Given the description of an element on the screen output the (x, y) to click on. 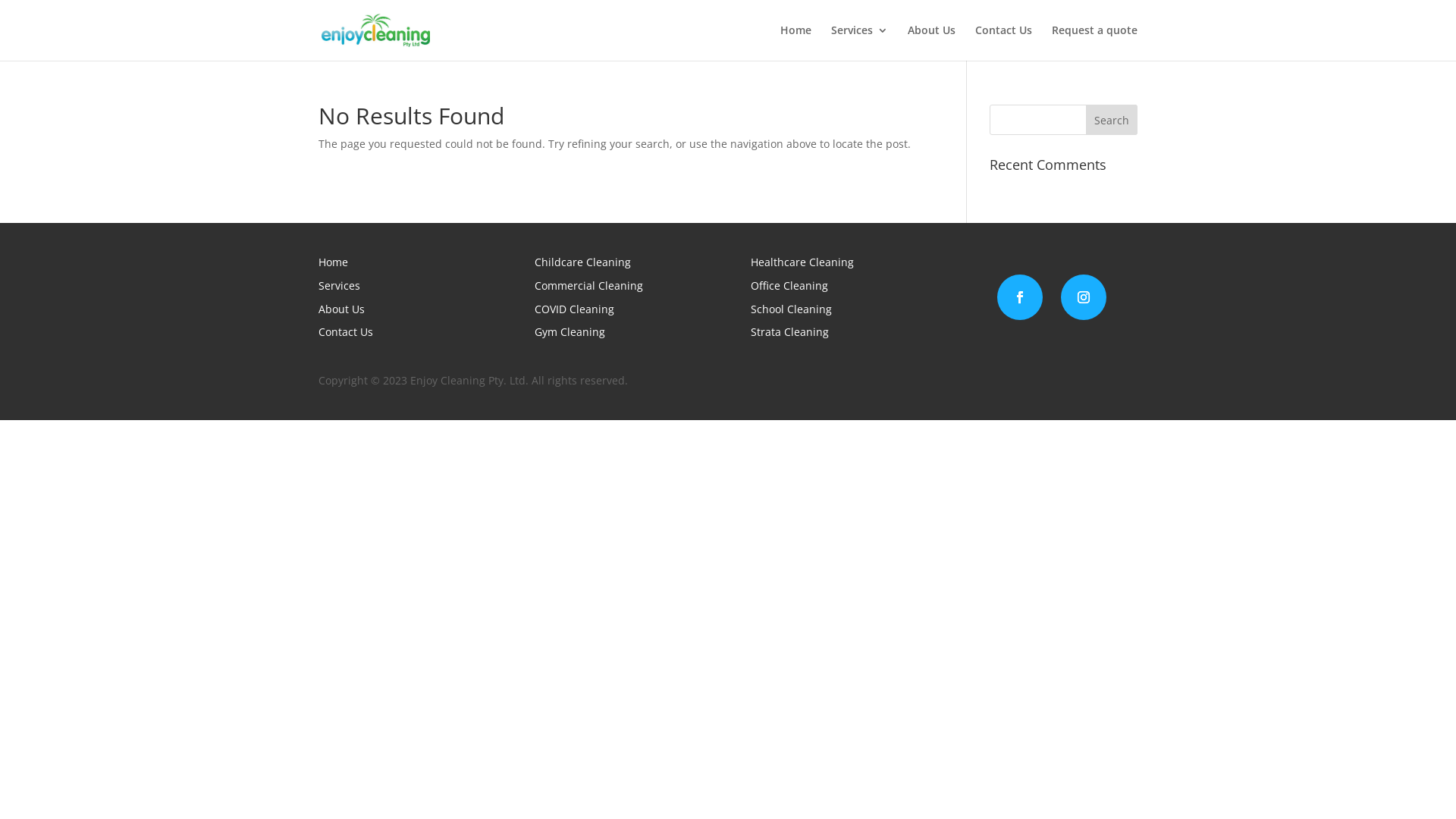
Contact Us Element type: text (1003, 42)
COVID Cleaning Element type: text (574, 308)
Contact Us Element type: text (345, 331)
Home Element type: text (333, 261)
School Cleaning Element type: text (790, 308)
Search Element type: text (1111, 119)
Services Element type: text (339, 285)
Follow on Facebook Element type: hover (1019, 297)
Follow on Instagram Element type: hover (1083, 297)
About Us Element type: text (931, 42)
Request a quote Element type: text (1094, 42)
Healthcare Cleaning Element type: text (801, 261)
Commercial Cleaning Element type: text (588, 285)
Services Element type: text (859, 42)
About Us Element type: text (341, 308)
Home Element type: text (795, 42)
Strata Cleaning Element type: text (789, 331)
Gym Cleaning Element type: text (569, 331)
Office Cleaning Element type: text (789, 285)
Childcare Cleaning Element type: text (582, 261)
